Given the description of an element on the screen output the (x, y) to click on. 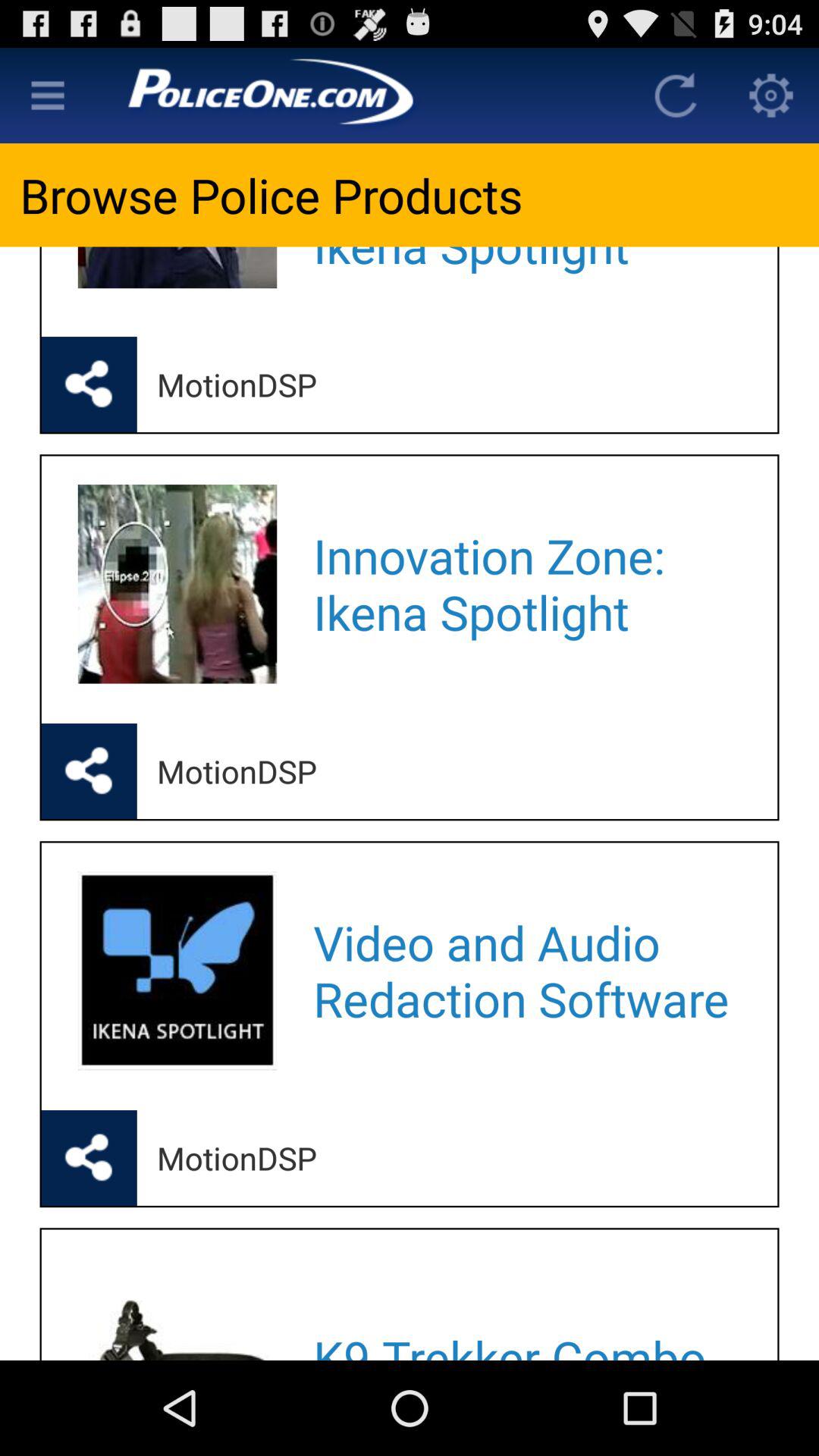
share product (89, 771)
